Given the description of an element on the screen output the (x, y) to click on. 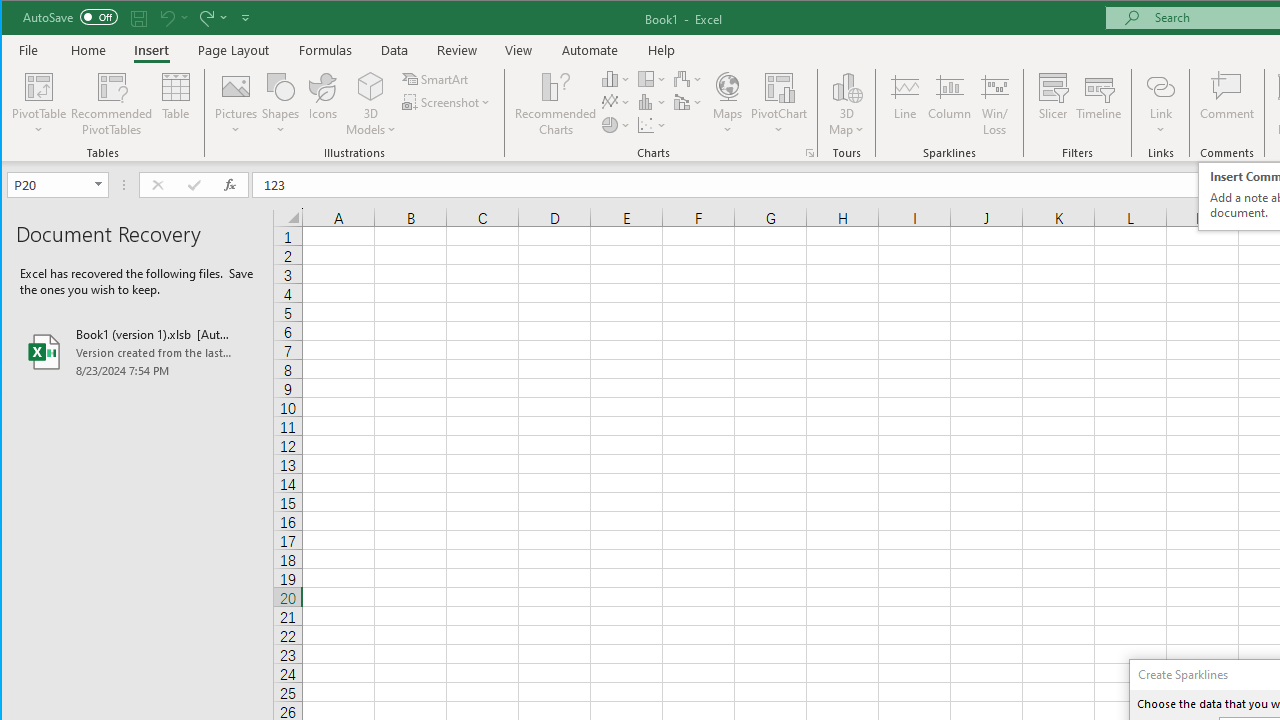
Shapes (280, 104)
Timeline (1098, 104)
3D Models (371, 104)
SmartArt... (436, 78)
PivotTable (39, 104)
Insert Column or Bar Chart (616, 78)
Insert Pie or Doughnut Chart (616, 124)
Line (904, 104)
Icons (323, 104)
Win/Loss (995, 104)
